Given the description of an element on the screen output the (x, y) to click on. 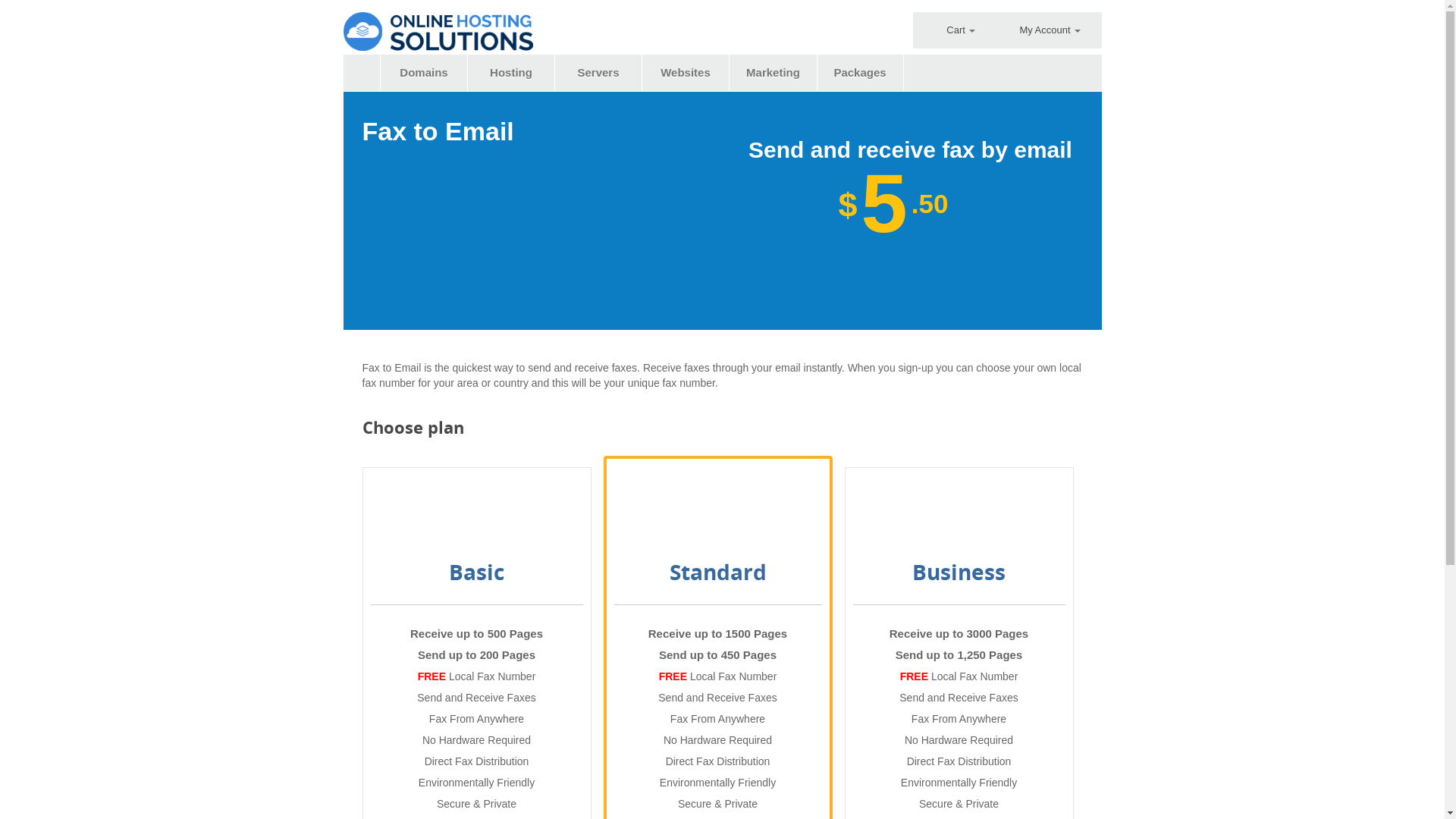
Marketing Element type: text (772, 72)
Servers Element type: text (598, 72)
Cart Element type: text (951, 29)
Websites Element type: text (686, 72)
Domains Element type: text (423, 72)
Home Element type: text (360, 72)
Hosting Element type: text (511, 72)
My Account Element type: text (1049, 29)
Packages Element type: text (860, 72)
